Given the description of an element on the screen output the (x, y) to click on. 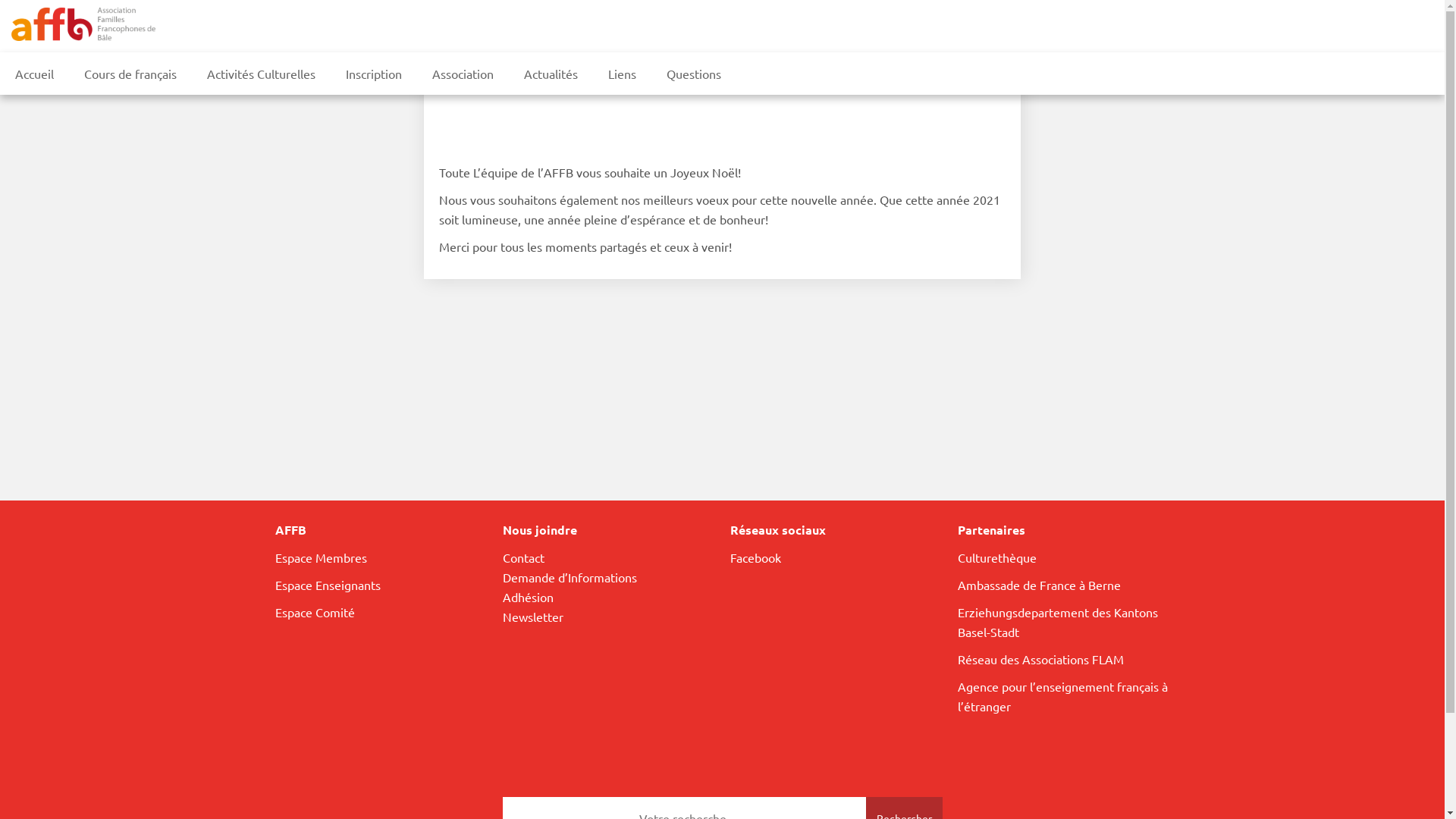
Espace Enseignants Element type: text (326, 584)
Accueil Element type: text (34, 73)
Questions Element type: text (693, 73)
Contact Element type: text (522, 556)
Association Element type: text (462, 73)
Erziehungsdepartement des Kantons Basel-Stadt Element type: text (1057, 621)
Inscription Element type: text (373, 73)
Newsletter Element type: text (532, 616)
Liens Element type: text (622, 73)
Espace Membres Element type: text (320, 556)
Facebook Element type: text (754, 556)
